Given the description of an element on the screen output the (x, y) to click on. 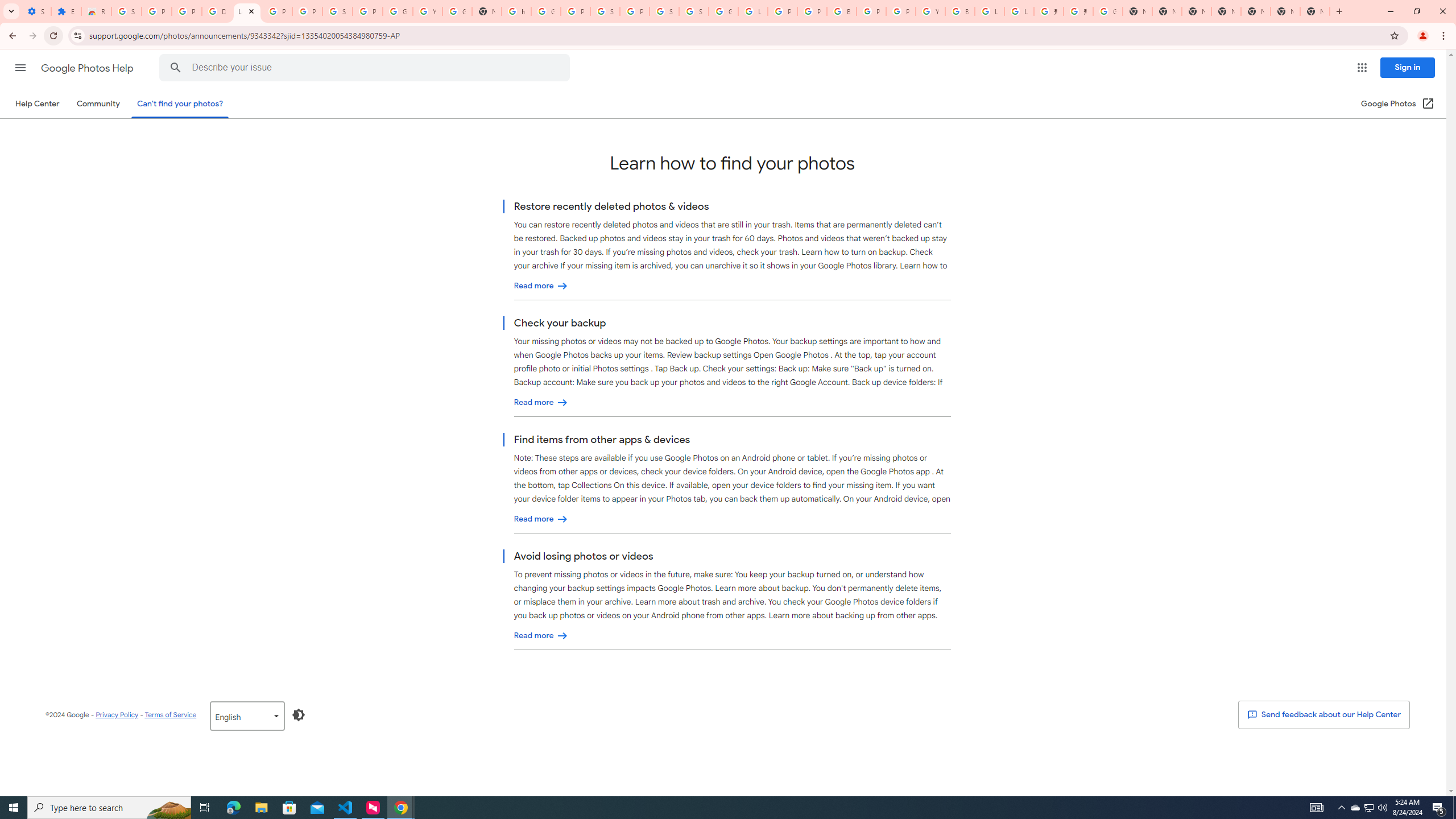
Google Photos Help (87, 68)
Learn how to find your photos - Google Photos Help (247, 11)
Avoid losing photos or videos (541, 635)
Privacy Help Center - Policies Help (782, 11)
